Given the description of an element on the screen output the (x, y) to click on. 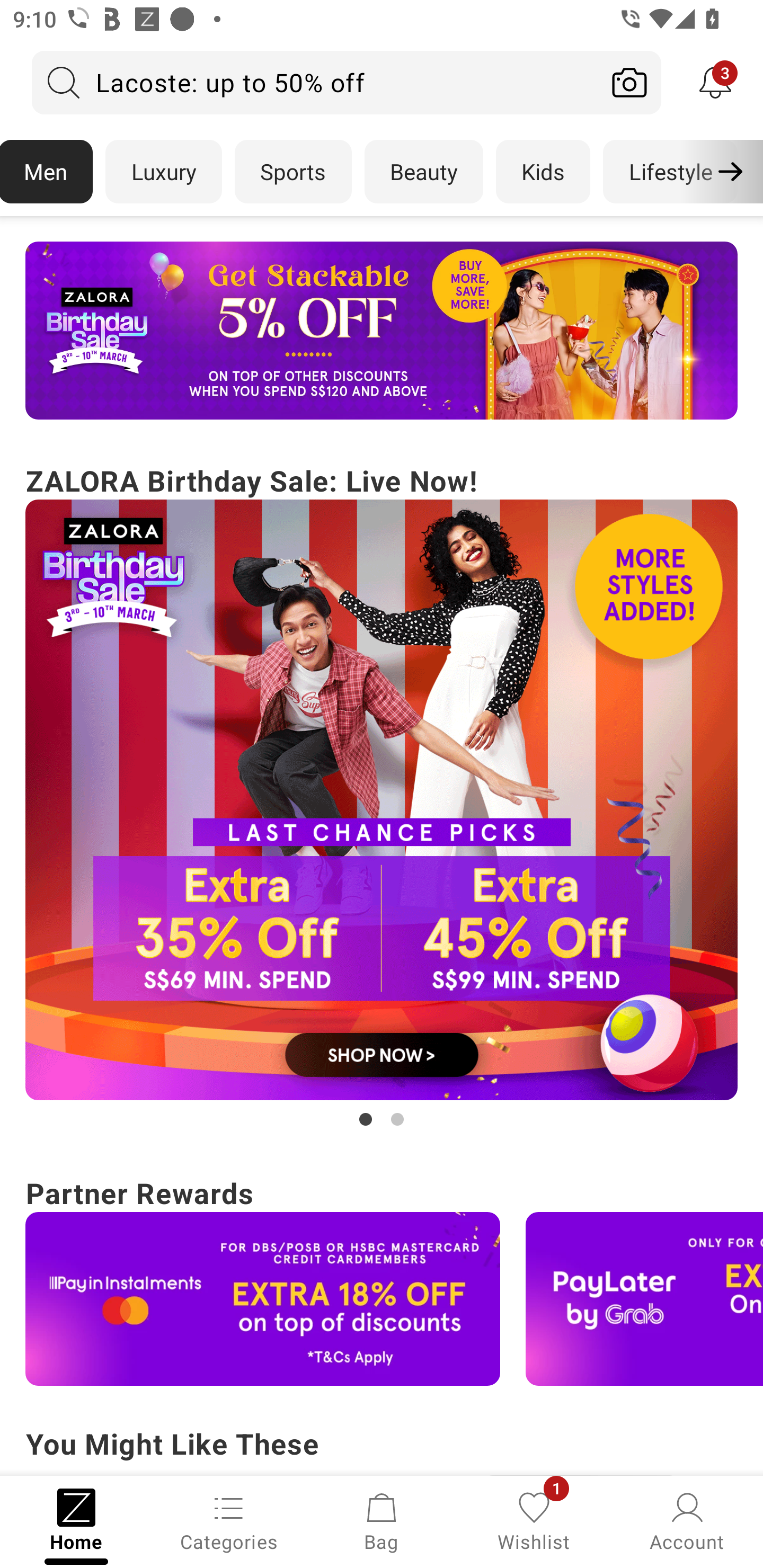
Lacoste: up to 50% off (314, 82)
Men (46, 171)
Luxury (163, 171)
Sports (293, 171)
Beauty (423, 171)
Kids (542, 171)
Lifestyle (669, 171)
Campaign banner (381, 330)
ZALORA Birthday Sale: Live Now! Campaign banner (381, 794)
Campaign banner (381, 800)
Partner Rewards Campaign banner Campaign banner (381, 1277)
Campaign banner (262, 1299)
Campaign banner (644, 1299)
Categories (228, 1519)
Bag (381, 1519)
Wishlist, 1 new notification Wishlist (533, 1519)
Account (686, 1519)
